Given the description of an element on the screen output the (x, y) to click on. 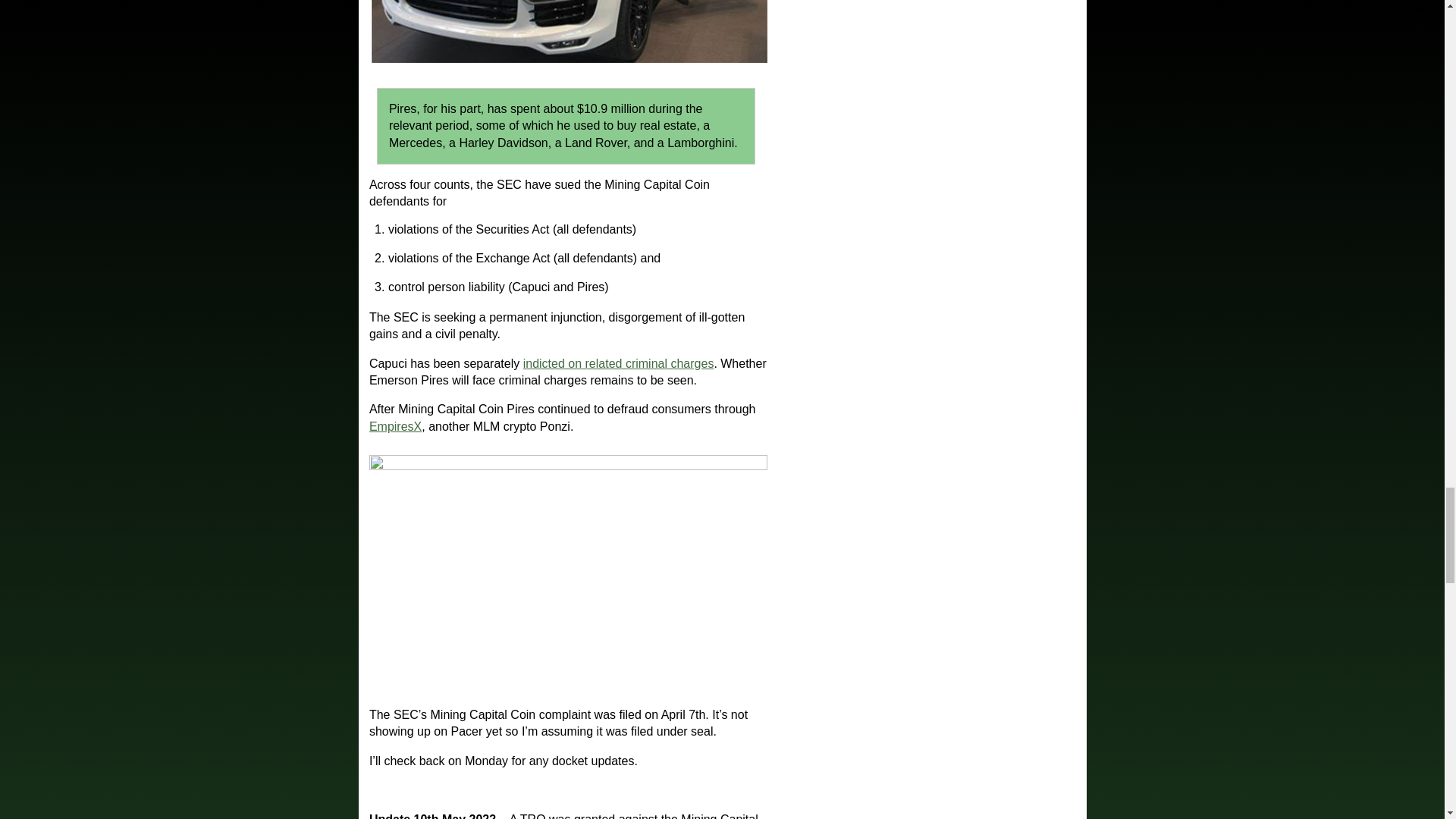
indicted on related criminal charges (618, 362)
EmpiresX (395, 426)
